Given the description of an element on the screen output the (x, y) to click on. 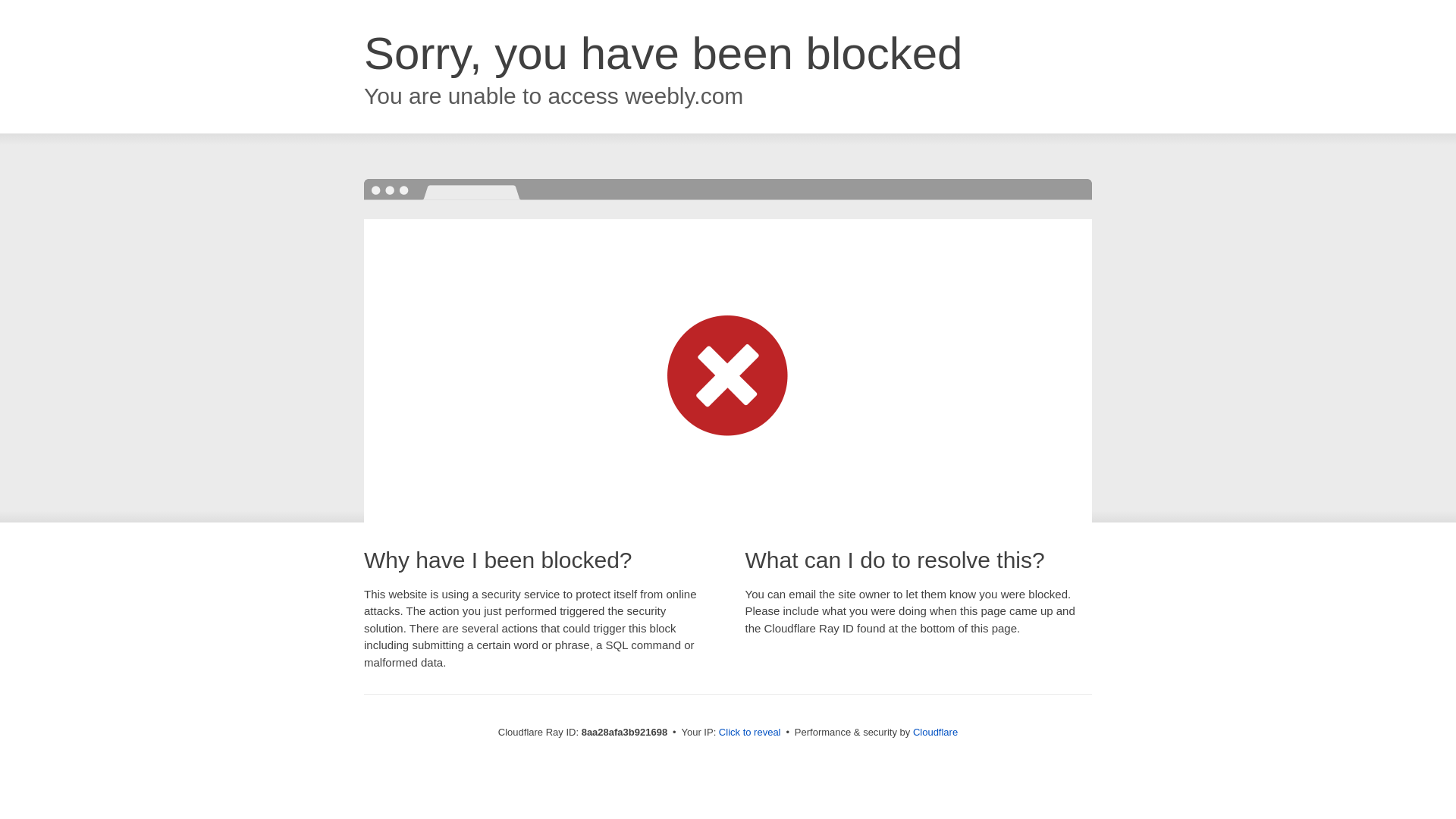
Click to reveal (749, 732)
Cloudflare (935, 731)
